Given the description of an element on the screen output the (x, y) to click on. 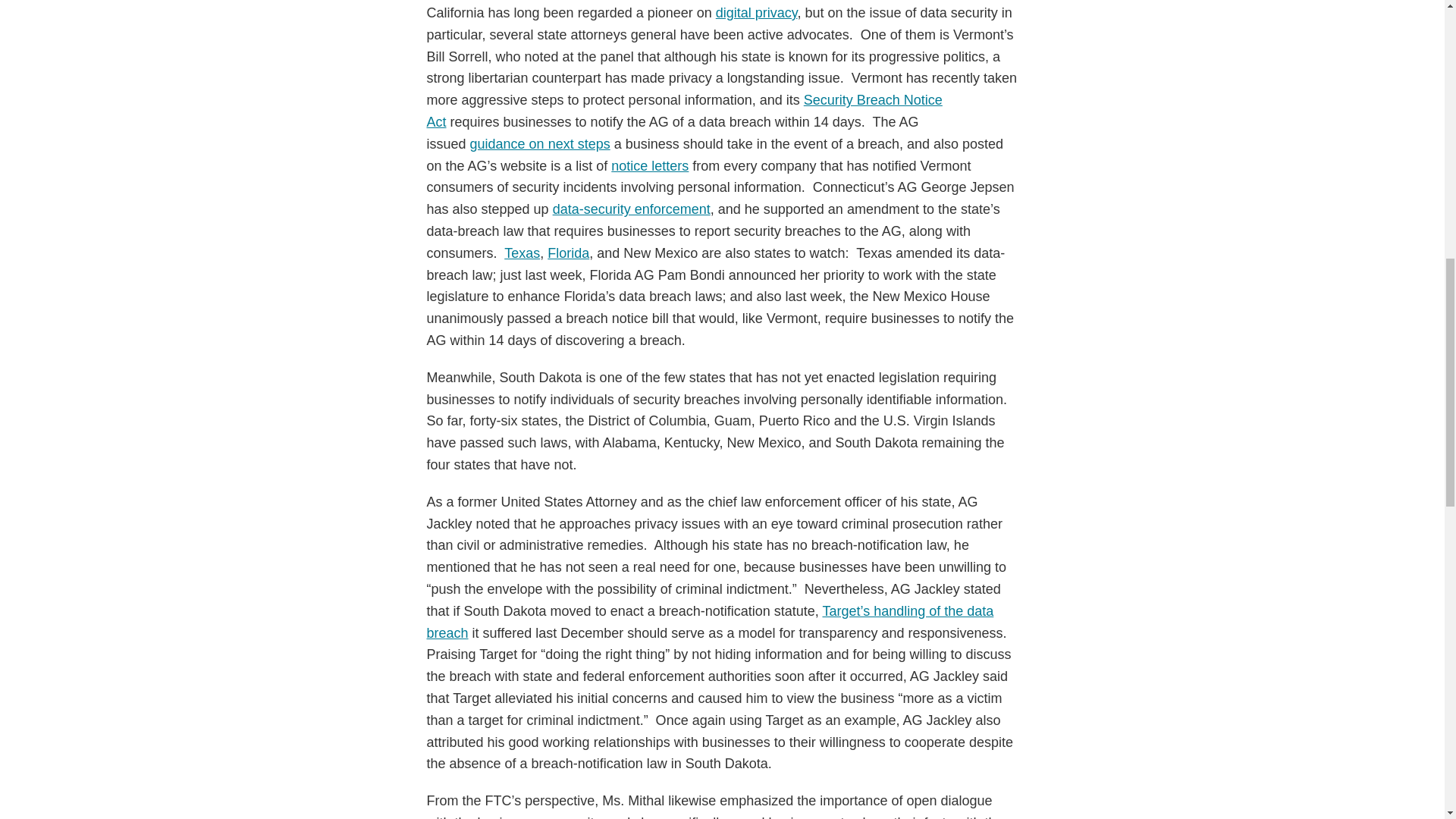
notice letters (649, 165)
digital privacy (756, 12)
data-security enforcement (631, 209)
Texas (521, 253)
Security Breach Notice Act (684, 110)
guidance on next steps (540, 143)
Florida (568, 253)
